Given the description of an element on the screen output the (x, y) to click on. 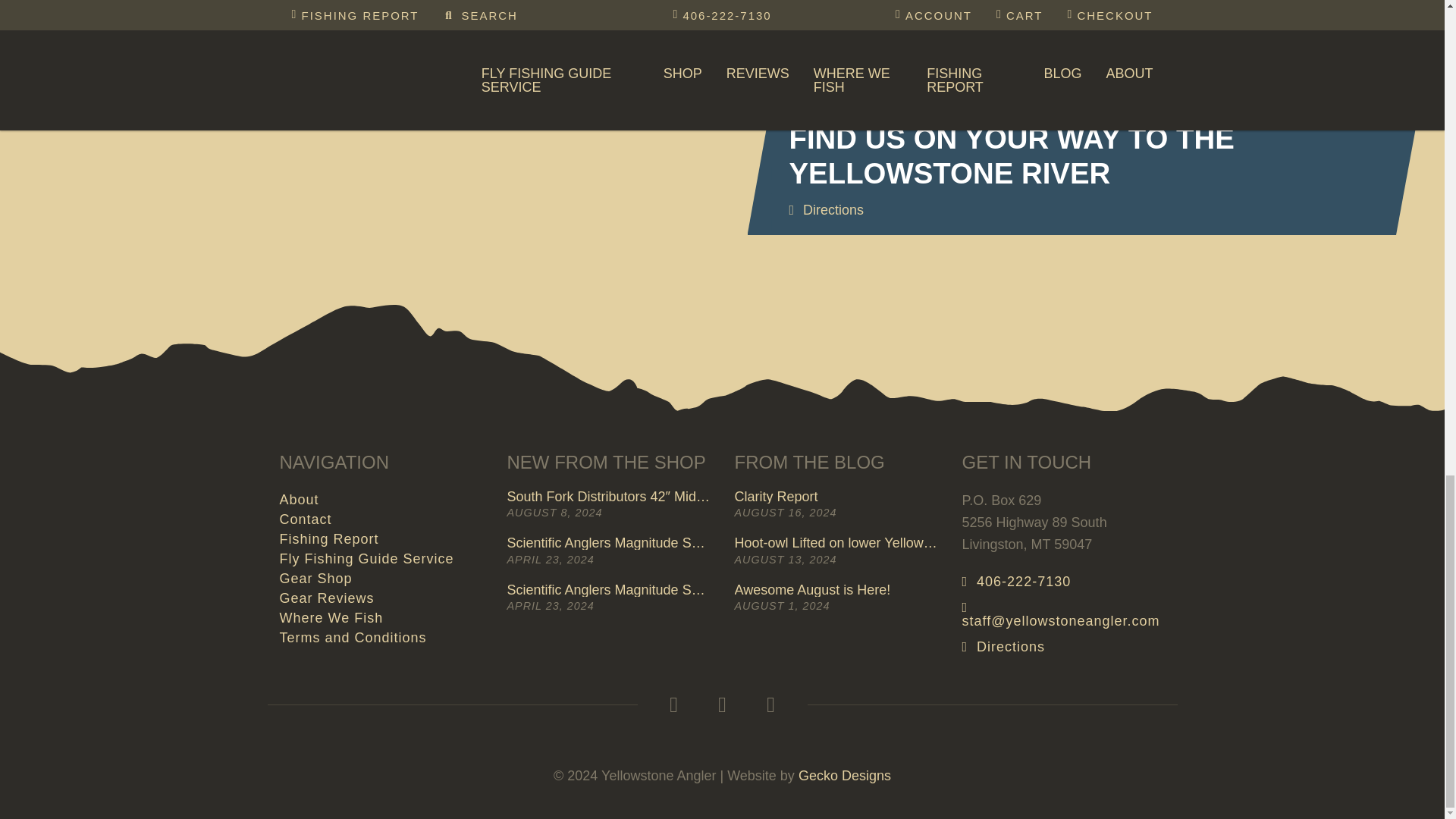
Facebook (673, 705)
YouTube (770, 705)
Instagram (721, 705)
